Given the description of an element on the screen output the (x, y) to click on. 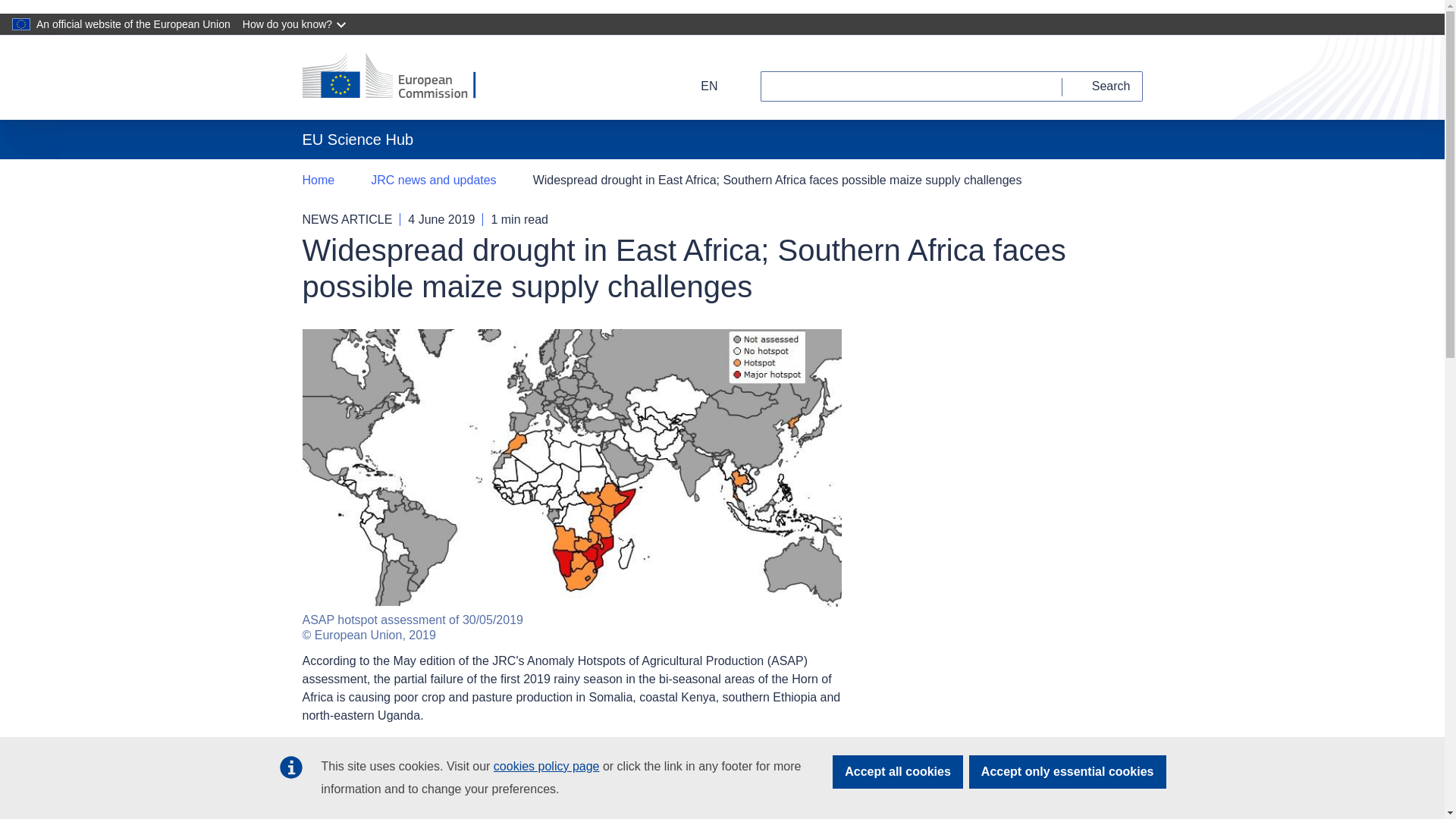
Home (317, 180)
Search (1102, 86)
European Commission (399, 77)
Accept all cookies (897, 771)
JRC news and updates (433, 180)
cookies policy page (546, 766)
Accept only essential cookies (1067, 771)
How do you know? (295, 24)
EN (699, 86)
